Given the description of an element on the screen output the (x, y) to click on. 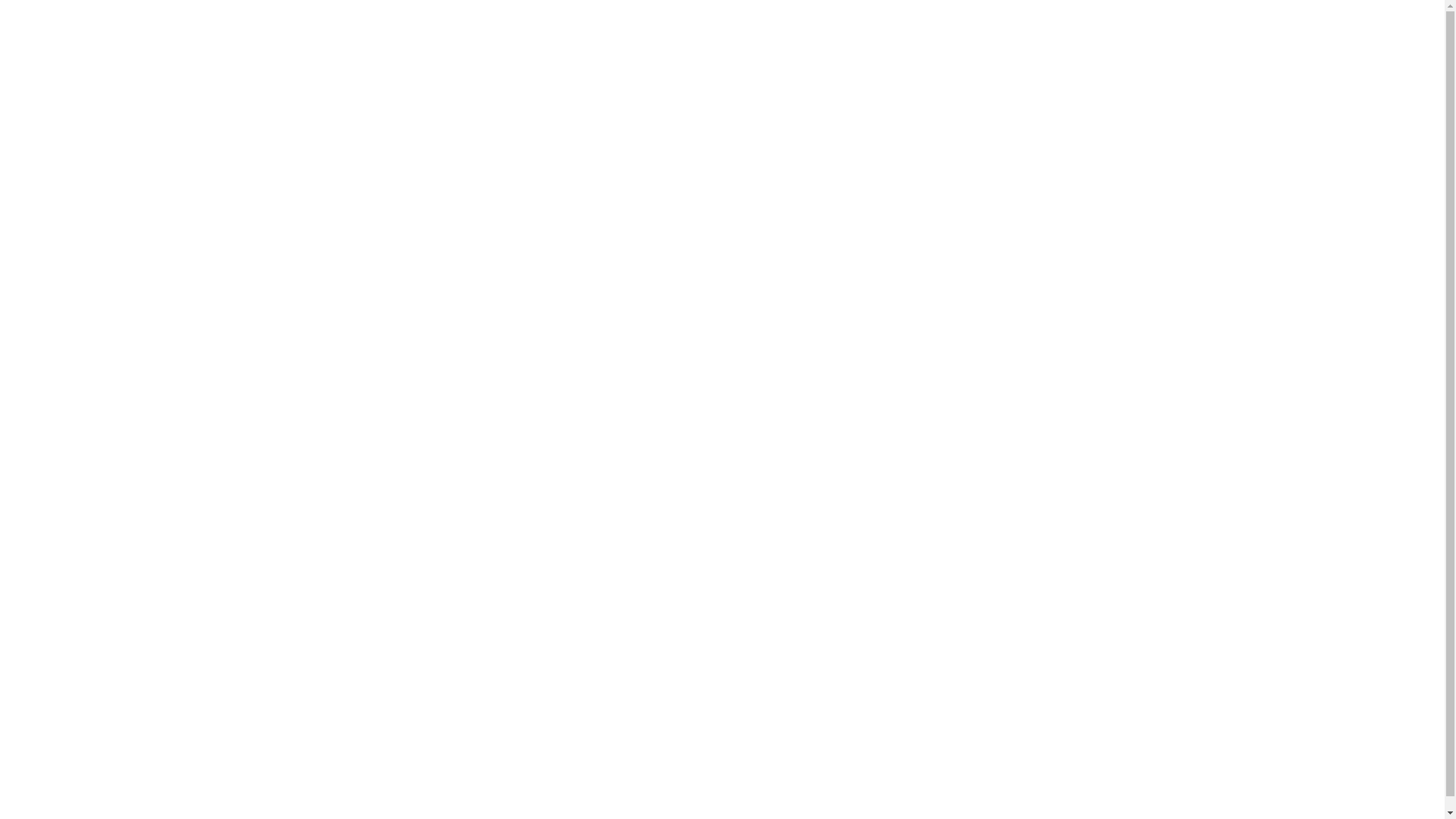
Over Ons Element type: text (1078, 620)
Testimonials Element type: text (1078, 663)
Home Element type: text (1078, 599)
hello@cocowithlove.be Element type: text (405, 671)
Privacybeleid Element type: text (878, 746)
instagram Element type: text (128, 771)
Portfolio Element type: text (54, 393)
Portfolio Element type: text (1078, 641)
pinterest Element type: text (68, 771)
linkedin Element type: text (98, 771)
Over Ons Element type: text (55, 365)
Back Home Element type: text (826, 448)
email Element type: text (159, 771)
Coeur by Coco Element type: text (1078, 705)
Contact Element type: text (1078, 684)
Testimonials Element type: text (66, 420)
Home Element type: text (46, 338)
facebook Element type: text (37, 771)
Coeur by Coco Element type: text (71, 475)
Contact Element type: text (53, 447)
